Given the description of an element on the screen output the (x, y) to click on. 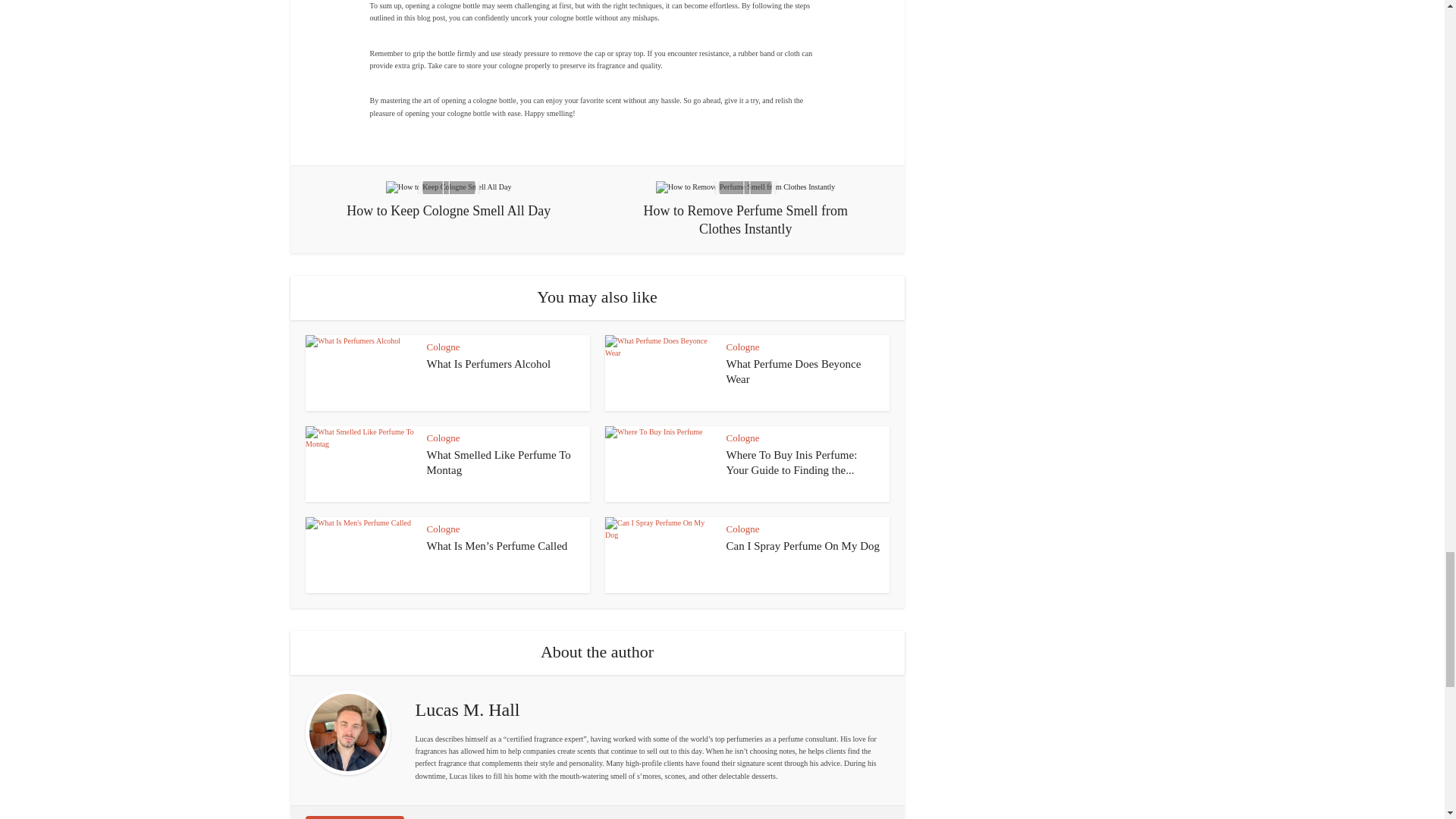
What Is Perfumers Alcohol (488, 363)
What Smelled Like Perfume To Montag 7 (359, 463)
What Perfume Does Beyonce Wear (793, 370)
What Is Perfumers Alcohol 5 (359, 372)
How to Remove Perfume Smell from Clothes Instantly 4 (745, 186)
What Smelled Like Perfume To Montag (498, 461)
How to Keep Cologne Smell All Day 3 (448, 186)
What Perfume Does Beyonce Wear 6 (659, 372)
